Given the description of an element on the screen output the (x, y) to click on. 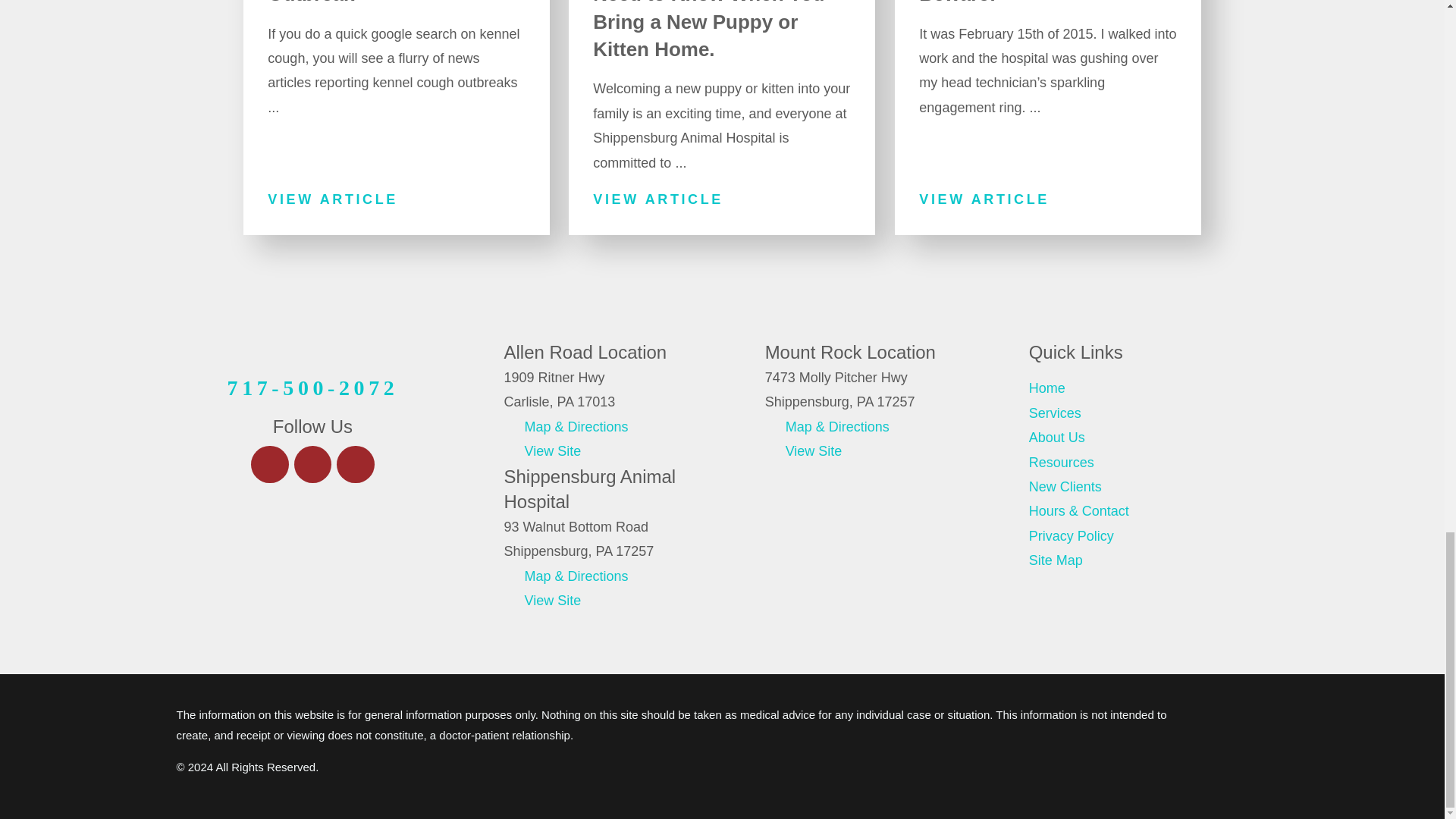
Facebook (269, 464)
Yelp (312, 464)
Google Business Profile (355, 464)
